Given the description of an element on the screen output the (x, y) to click on. 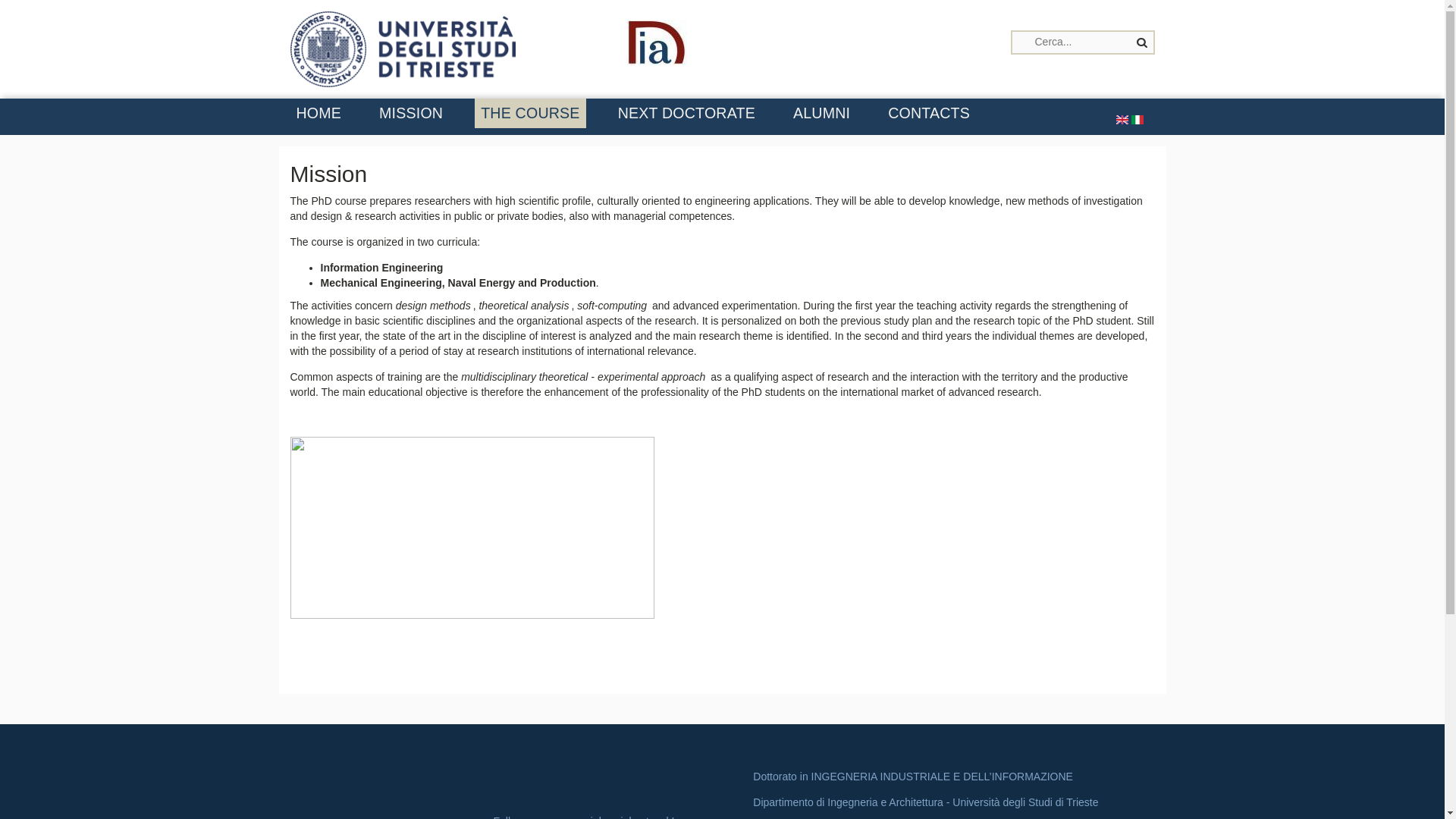
Italiano (1136, 119)
Skip to content (34, 0)
Mission (1122, 119)
CONTACTS (928, 112)
Inserisci i termini da cercare. (1082, 42)
Missione (1136, 119)
MISSION (410, 112)
NEXT DOCTORATE (686, 112)
HOME (318, 112)
ALUMNI (821, 112)
THE COURSE (529, 112)
English (1122, 119)
